Given the description of an element on the screen output the (x, y) to click on. 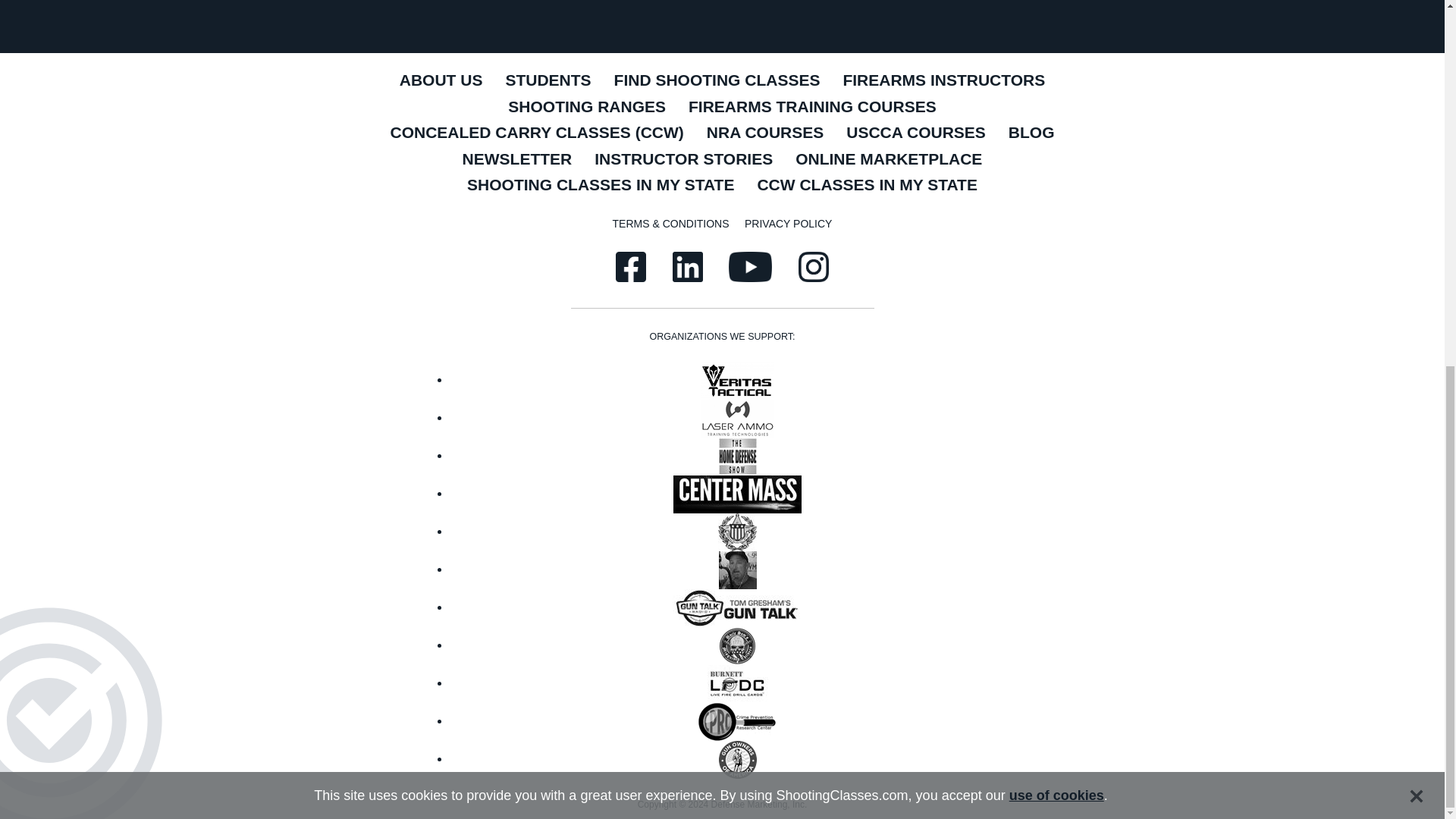
BLOG (1031, 133)
ONLINE MARKETPLACE (888, 160)
ABOUT US (441, 81)
SHOOTING CLASSES IN MY STATE (600, 185)
FIREARMS INSTRUCTORS (944, 81)
NEWSLETTER (517, 160)
SHOOTING RANGES (586, 108)
CCW CLASSES IN MY STATE (866, 185)
FIREARMS TRAINING COURSES (812, 108)
FIND SHOOTING CLASSES (716, 81)
STUDENTS (547, 81)
USCCA COURSES (915, 133)
INSTRUCTOR STORIES (683, 160)
NRA COURSES (764, 133)
